Given the description of an element on the screen output the (x, y) to click on. 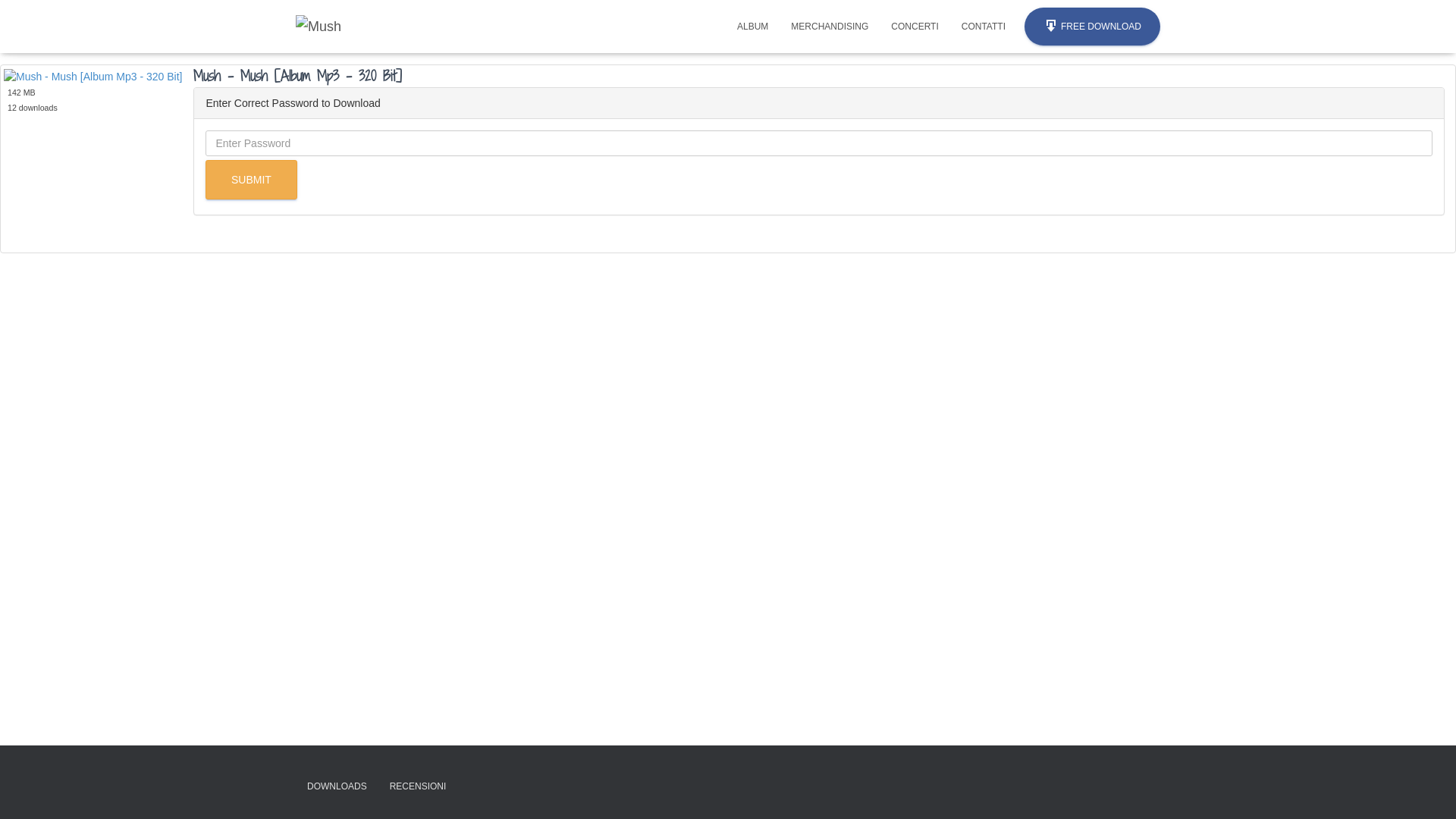
Mush Element type: hover (318, 26)
DOWNLOADS Element type: text (336, 786)
RECENSIONI Element type: text (418, 786)
ALBUM Element type: text (752, 26)
CONCERTI Element type: text (914, 26)
Submit Element type: text (251, 179)
FREE DOWNLOAD Element type: text (1092, 26)
MERCHANDISING Element type: text (829, 26)
CONTATTI Element type: text (983, 26)
